Given the description of an element on the screen output the (x, y) to click on. 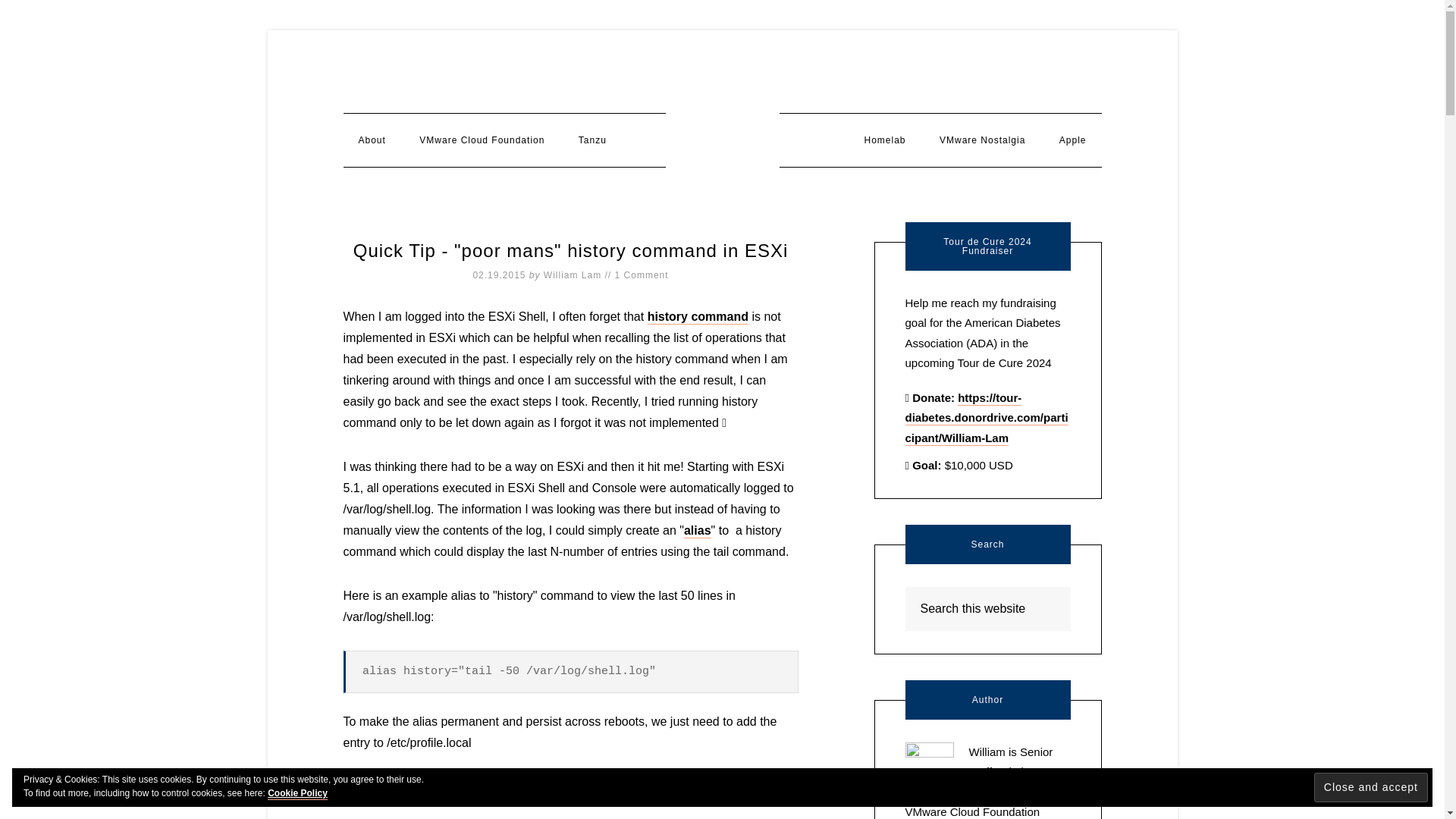
William Lam (572, 275)
Close and accept (1371, 787)
Tanzu (592, 140)
history command (697, 317)
1 Comment (641, 275)
alias (697, 531)
About (371, 140)
Quick Tip - "poor mans" history command in ESXi (571, 250)
WilliamLam.com (721, 132)
Homelab (884, 140)
VMware Nostalgia (982, 140)
Apple (1072, 140)
VMware Cloud Foundation (481, 140)
